Given the description of an element on the screen output the (x, y) to click on. 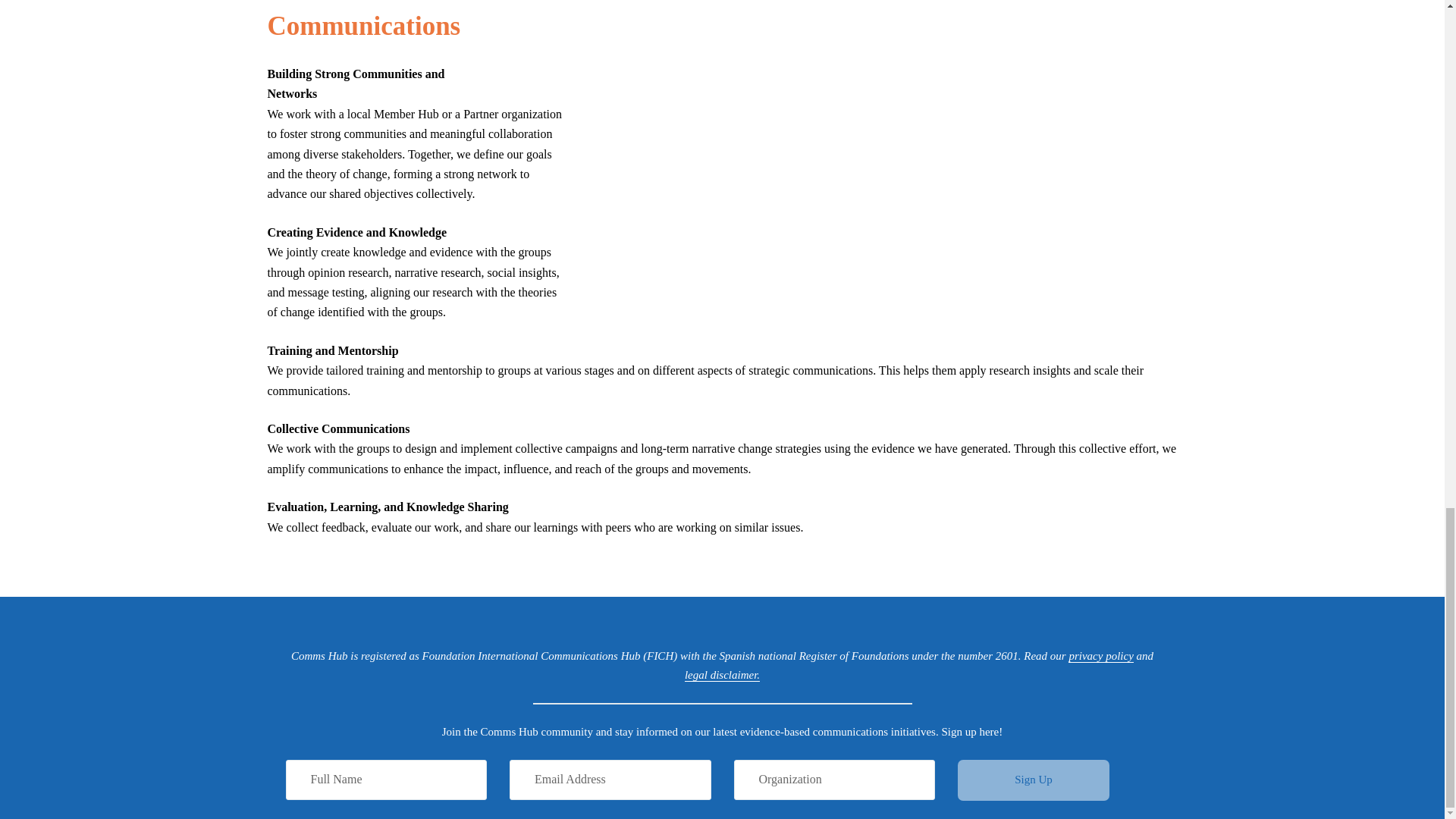
privacy policy (1100, 656)
legal disclaimer. (722, 675)
Sign Up (1033, 780)
Sign Up (1033, 780)
